Given the description of an element on the screen output the (x, y) to click on. 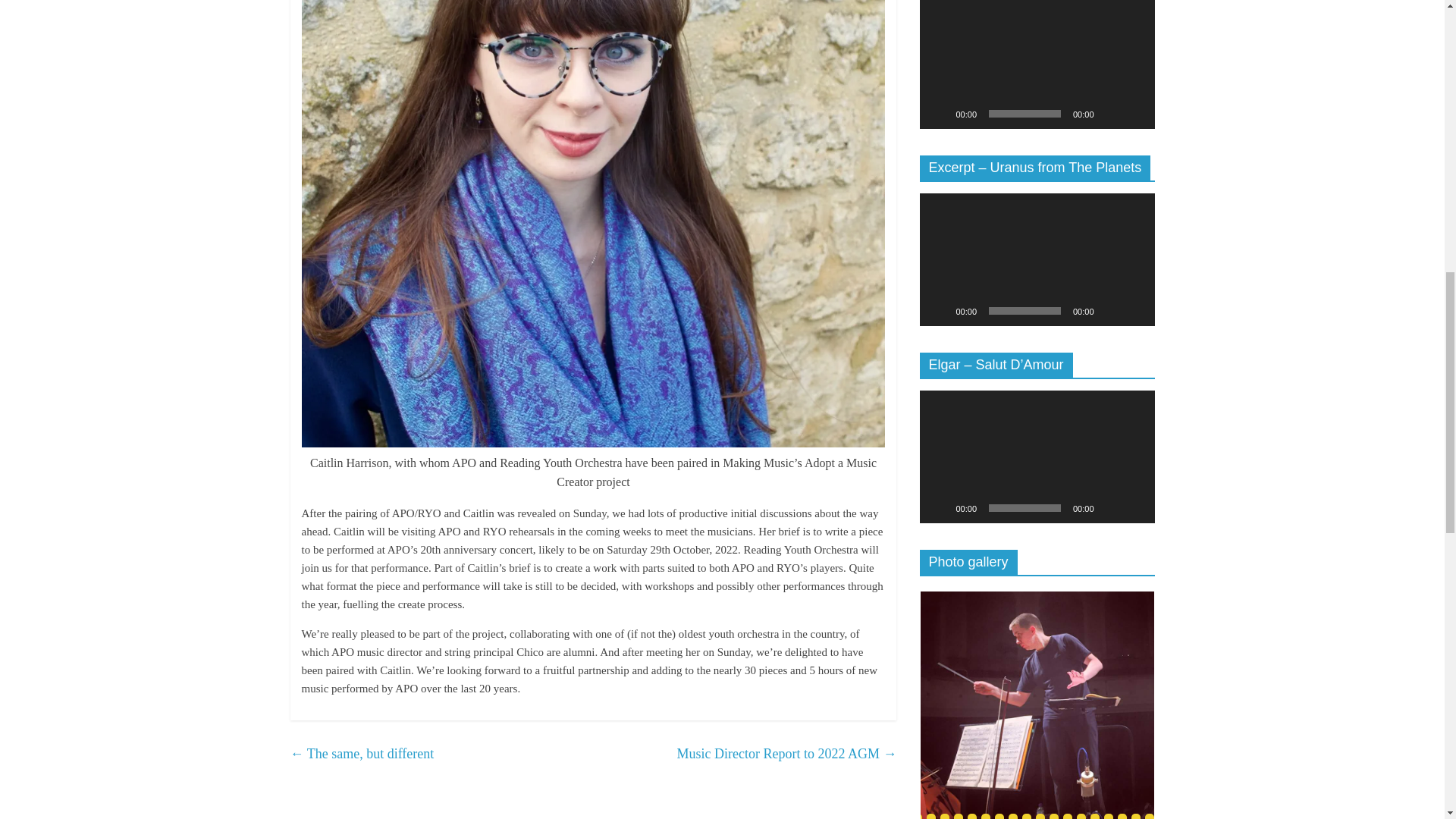
Play (938, 310)
Play (938, 507)
Fullscreen (1133, 113)
Mute (1110, 310)
Mute (1110, 113)
Play (938, 113)
Fullscreen (1133, 310)
